Given the description of an element on the screen output the (x, y) to click on. 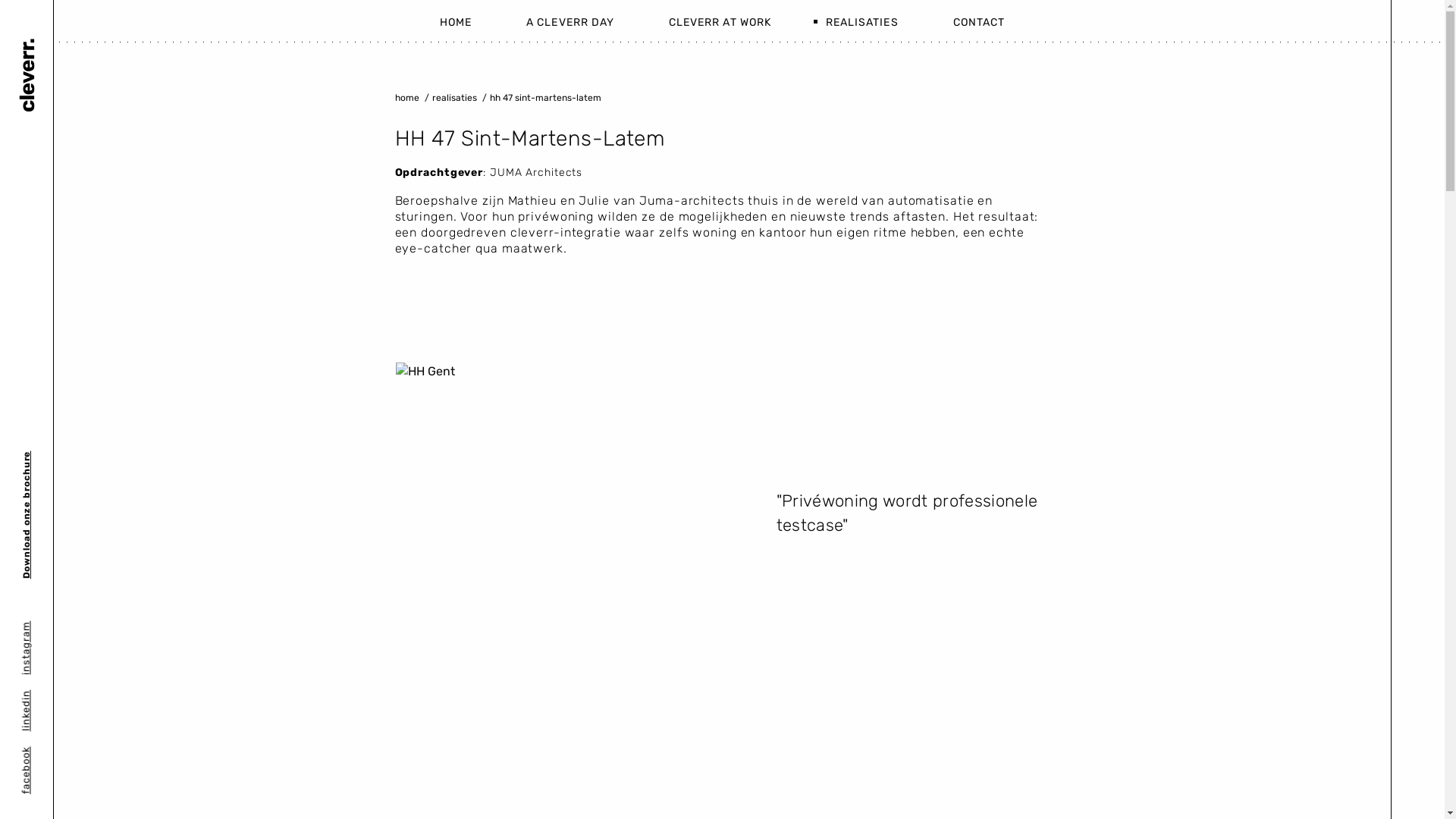
CONTACT Element type: text (964, 20)
linkedin Element type: text (37, 699)
CLEVERR AT WORK Element type: text (719, 20)
instagram Element type: text (43, 630)
Overslaan en naar de inhoud gaan Element type: text (0, 0)
Download onze brochure Element type: text (80, 460)
home Element type: text (406, 97)
facebook Element type: text (40, 755)
realisaties Element type: text (454, 97)
A CLEVERR DAY Element type: text (569, 20)
REALISATIES Element type: text (861, 20)
HOME Element type: text (468, 20)
